Given the description of an element on the screen output the (x, y) to click on. 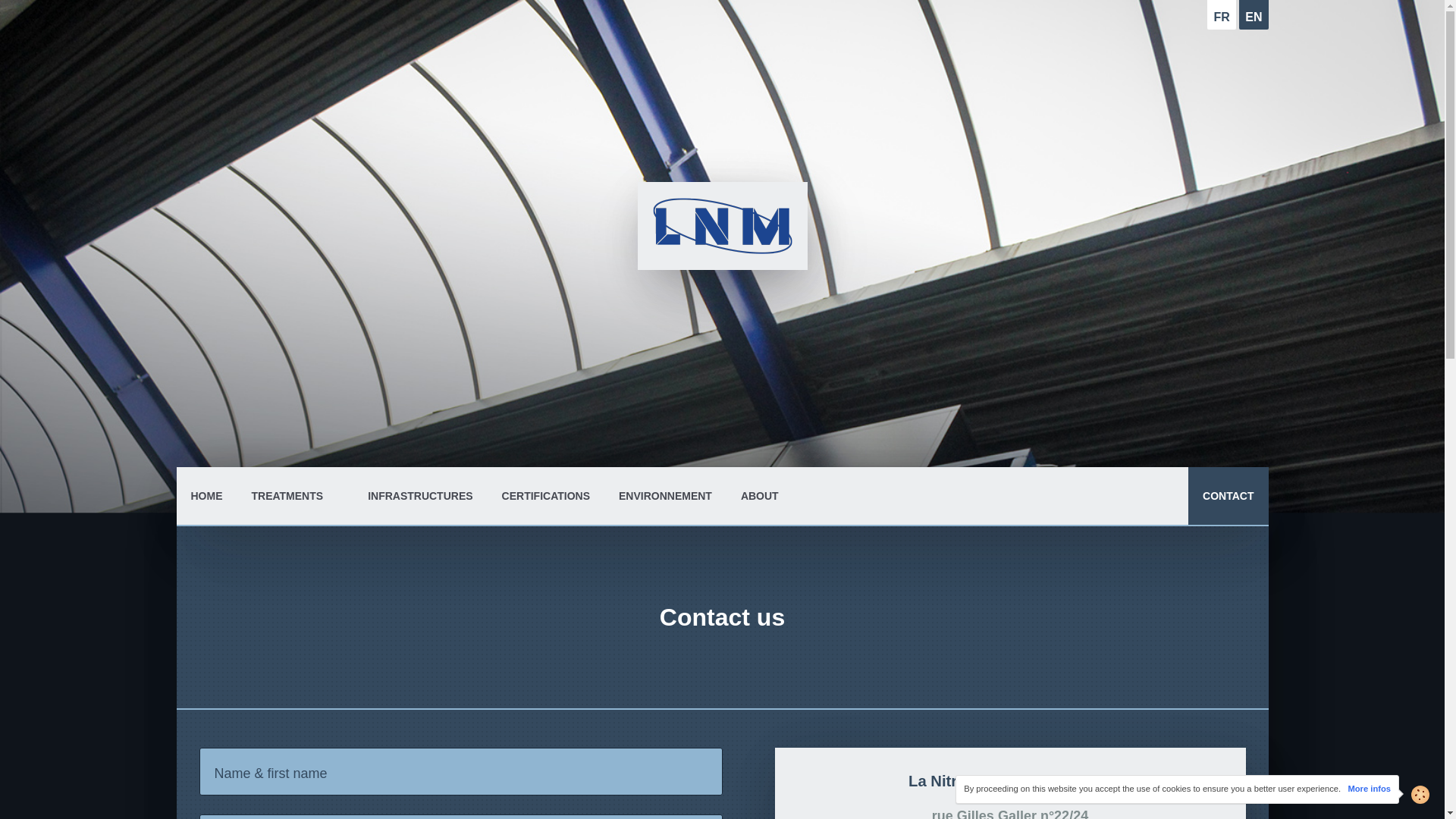
ABOUT (759, 495)
CONTACT (1228, 495)
ENVIRONNEMENT (665, 495)
More infos (1369, 788)
Fermer (1404, 794)
TREATMENTS (294, 495)
La Nitruration Moderne S.A. (721, 225)
HOME (205, 495)
FR (1220, 14)
